Given the description of an element on the screen output the (x, y) to click on. 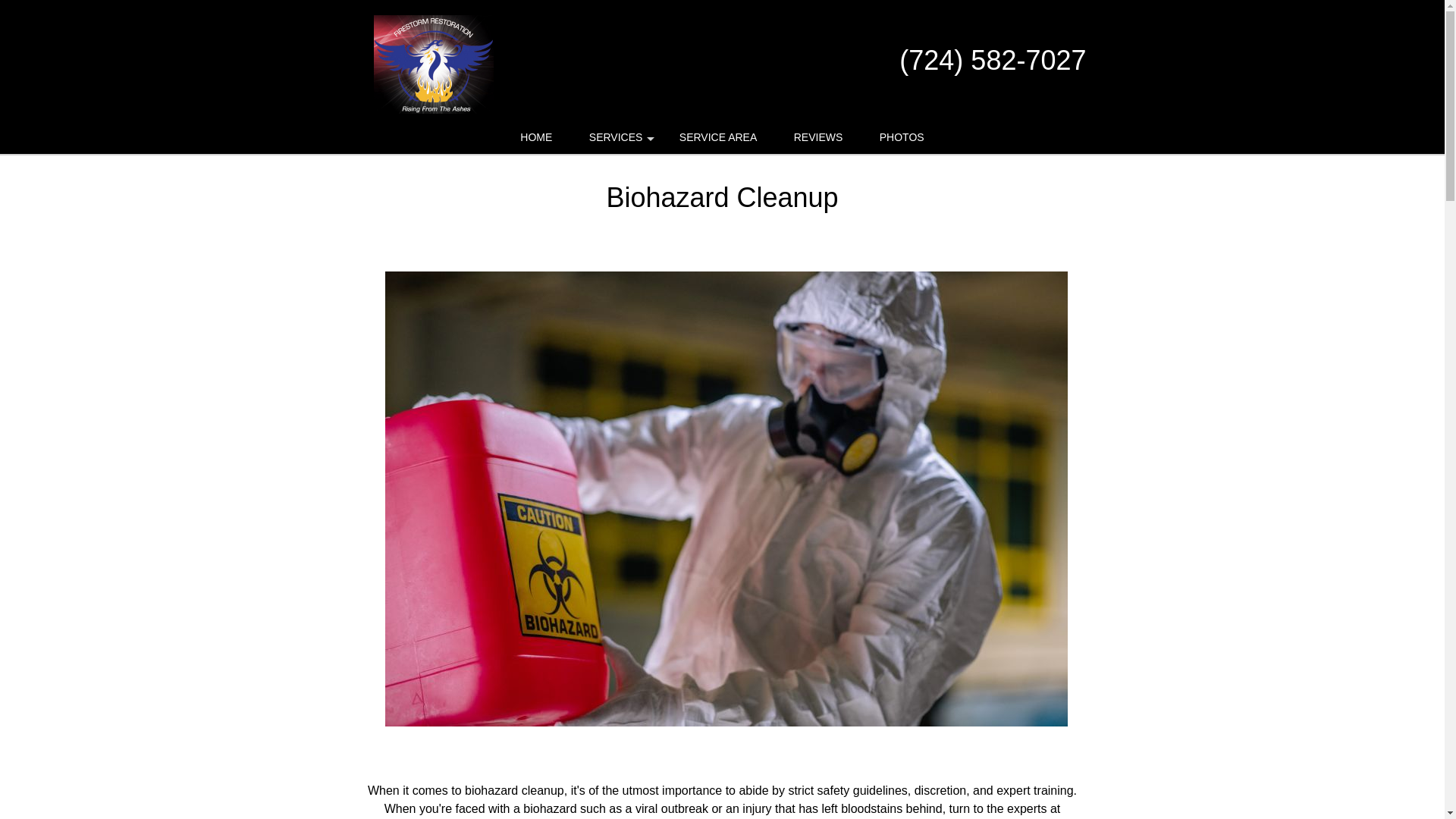
REVIEWS (818, 137)
HOME (536, 137)
SERVICE AREA (717, 137)
PHOTOS (901, 137)
